Given the description of an element on the screen output the (x, y) to click on. 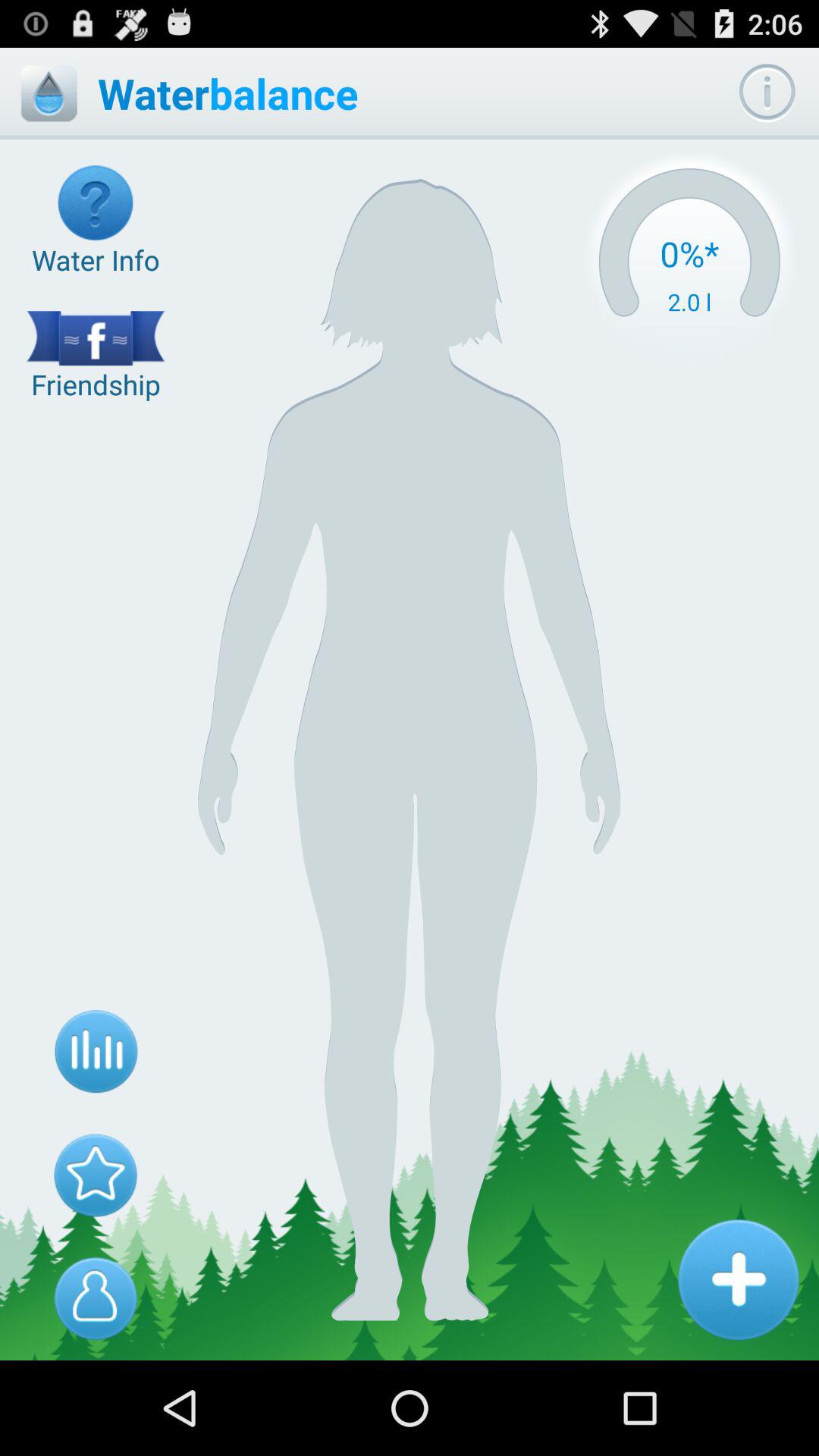
favorite option (95, 1175)
